Given the description of an element on the screen output the (x, y) to click on. 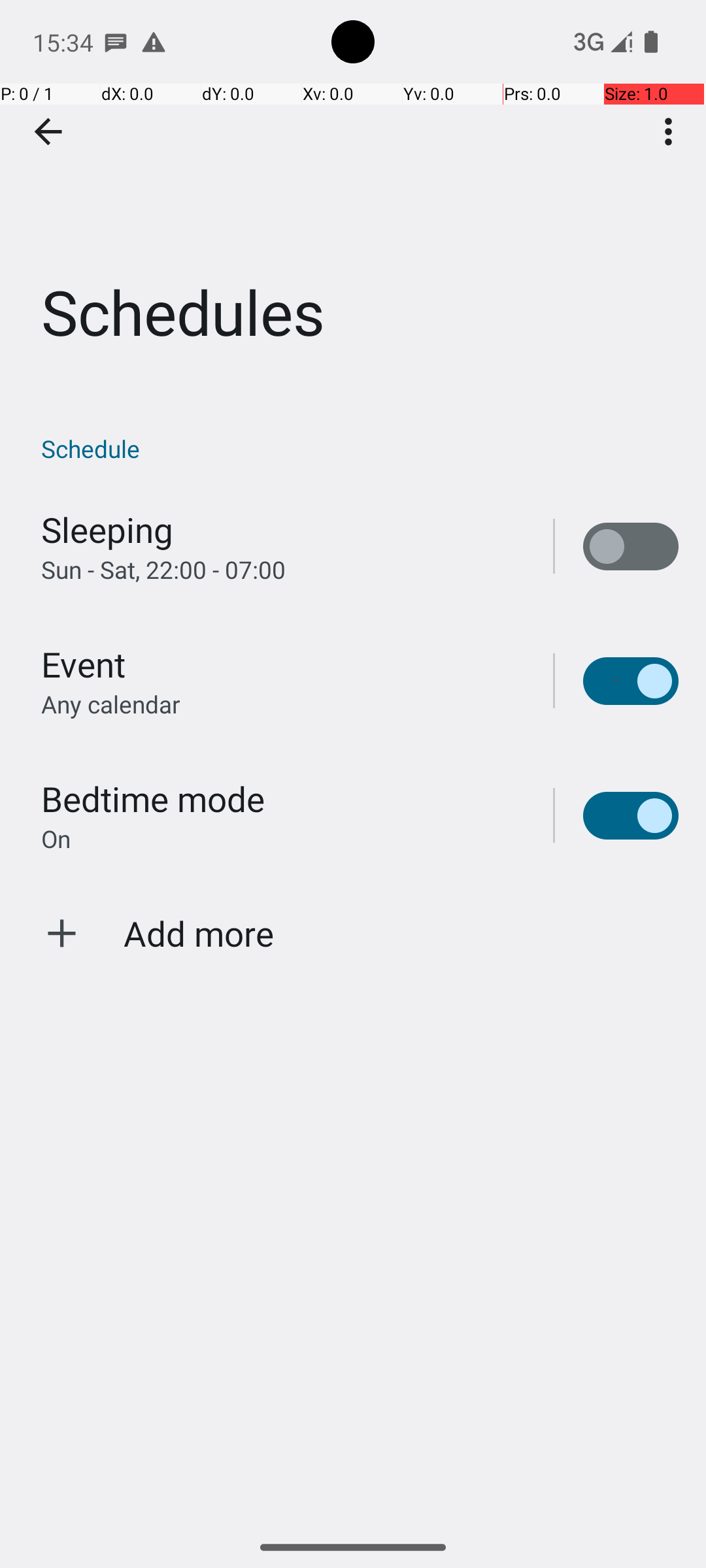
Schedules Element type: android.widget.FrameLayout (353, 195)
Schedule Element type: android.widget.TextView (359, 448)
Sleeping Element type: android.widget.TextView (107, 529)
Sun - Sat, 22:00 - 07:00 Element type: android.widget.TextView (163, 569)
Any calendar Element type: android.widget.TextView (110, 703)
Bedtime mode Element type: android.widget.TextView (152, 798)
Add more Element type: android.widget.TextView (198, 933)
